Given the description of an element on the screen output the (x, y) to click on. 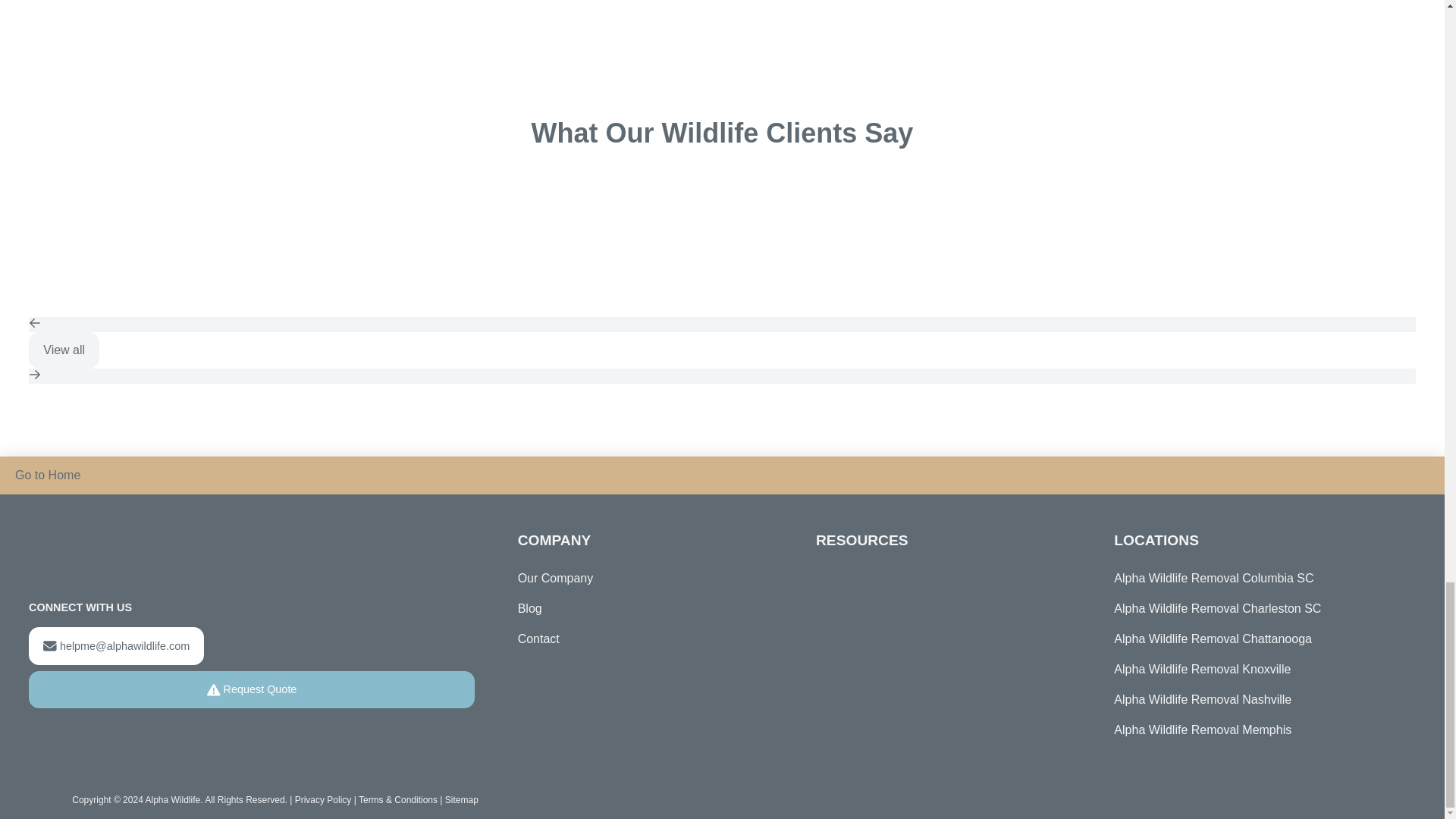
Sitemap (462, 799)
Alpha Wildlife Removal Knoxville (1254, 669)
Alpha Wildlife Removal Charleston SC (1254, 608)
Alpha Wildlife Removal Columbia SC (1254, 578)
Request Quote (251, 689)
View all (64, 350)
Alpha Wildlife Removal Chattanooga (1254, 639)
Alpha Wildlife Removal Memphis (1254, 729)
Alpha Wildlife Removal Nashville (1254, 699)
Privacy Policy (323, 799)
